Given the description of an element on the screen output the (x, y) to click on. 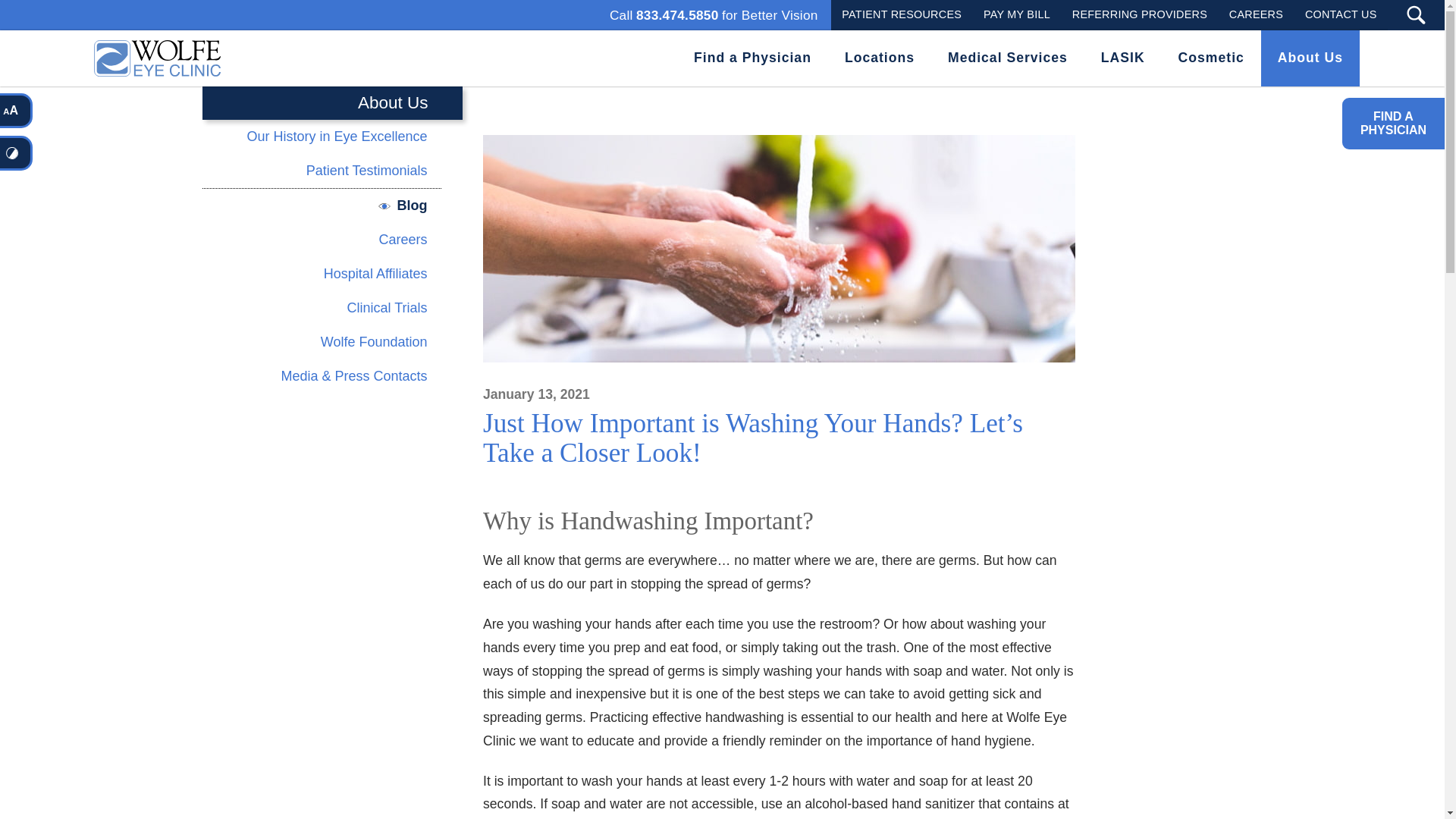
Find a Physician (752, 58)
REFERRING PROVIDERS (1139, 14)
Medical Services (1007, 58)
Locations (879, 58)
Wolfe Eye Clinic. Link to homepage (154, 58)
PAY MY BILL (1016, 14)
CONTACT US (713, 15)
CAREERS (1340, 14)
